Given the description of an element on the screen output the (x, y) to click on. 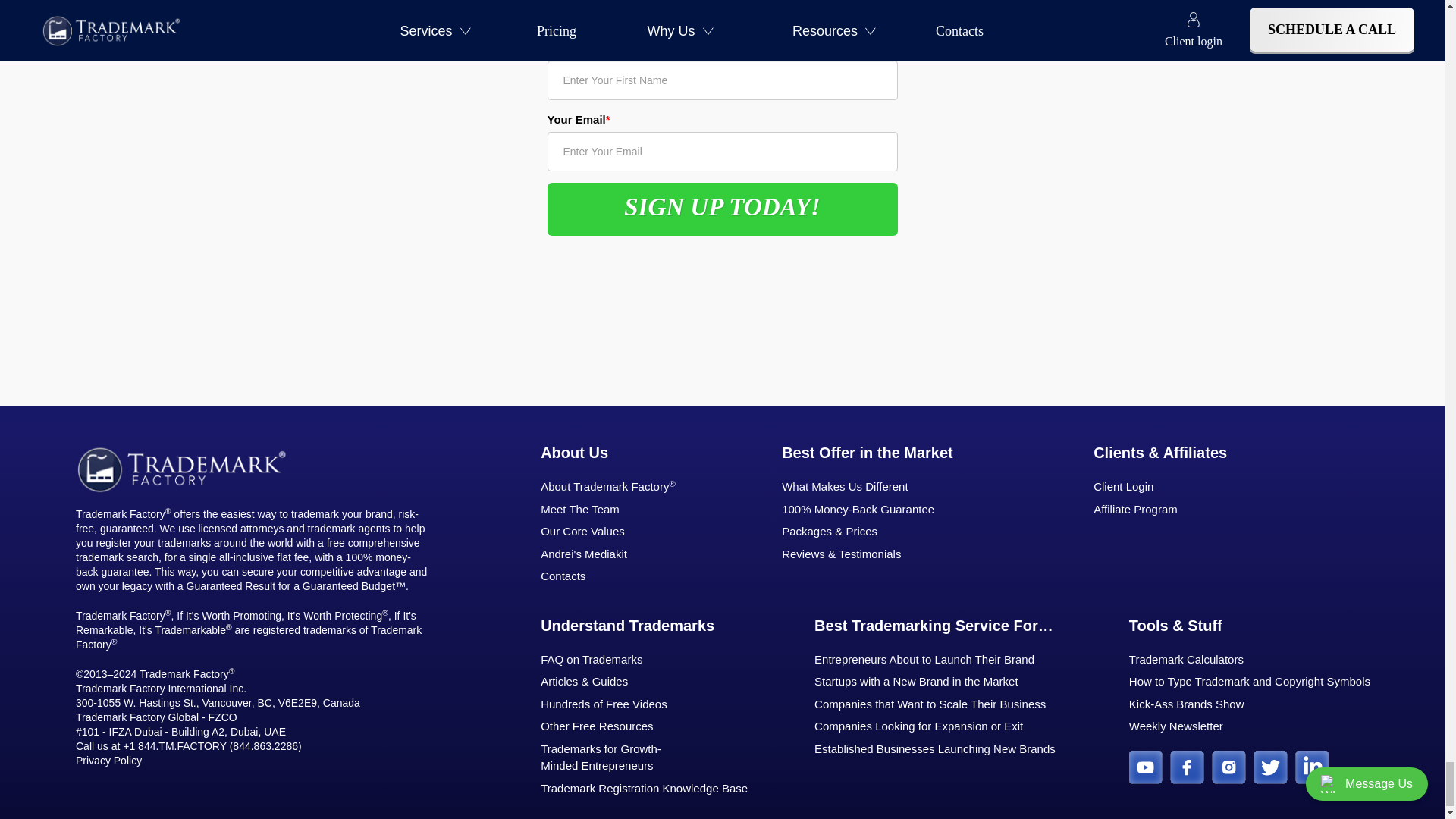
Contacts (619, 576)
SIGN UP TODAY! (722, 208)
Privacy Policy (108, 760)
What Makes Us Different (900, 487)
Our Core Values (619, 531)
Meet The Team (619, 509)
Andrei's Mediakit (619, 554)
Client Login (1160, 487)
